Given the description of an element on the screen output the (x, y) to click on. 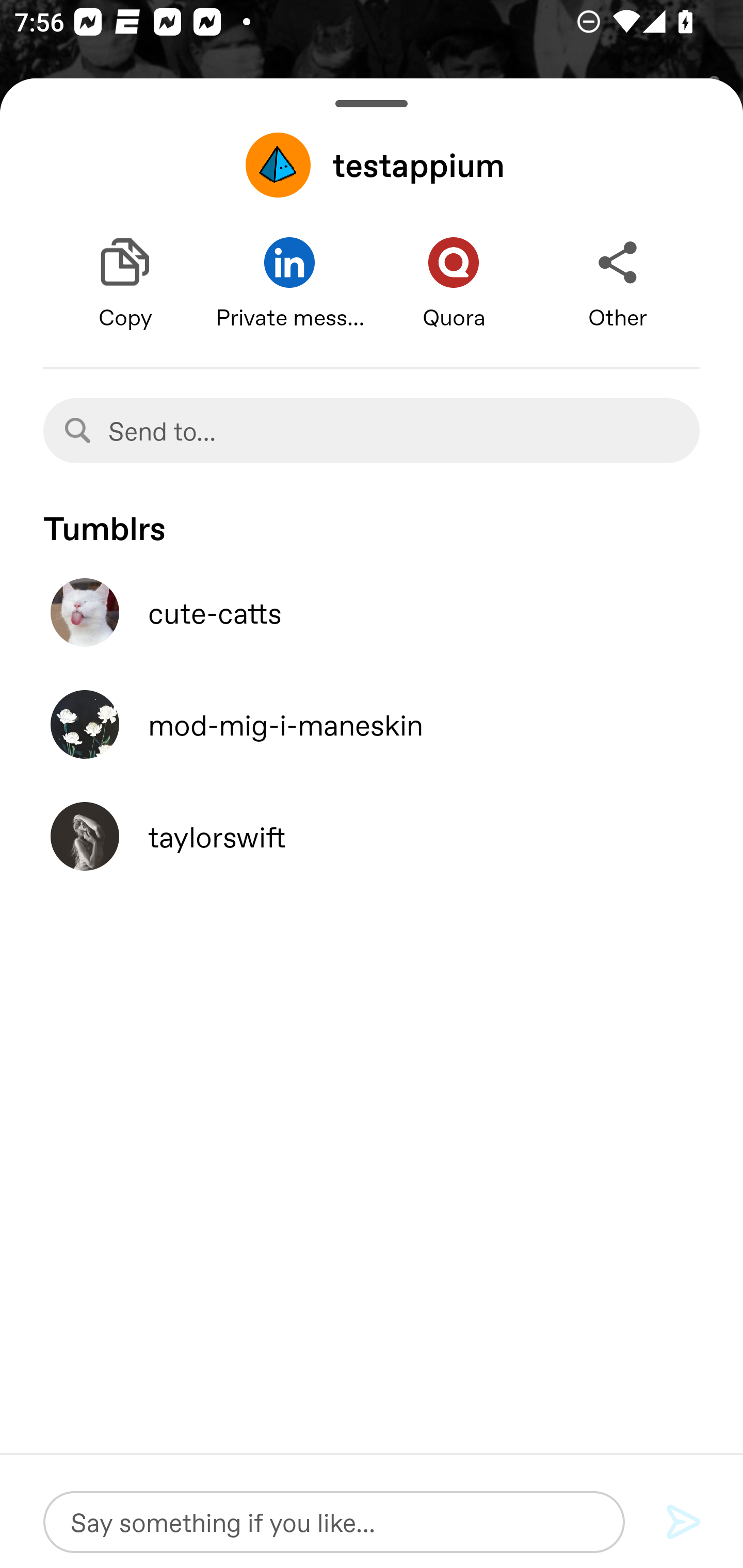
testappium (371, 164)
Copy (125, 284)
Private message (289, 284)
Quora (453, 284)
Other (617, 284)
Send to… (371, 430)
Tumblrs (371, 518)
cute-catts (371, 611)
mod-mig-i-maneskin (371, 723)
taylorswift (371, 836)
Send (683, 1522)
Say something if you like… (333, 1521)
